Given the description of an element on the screen output the (x, y) to click on. 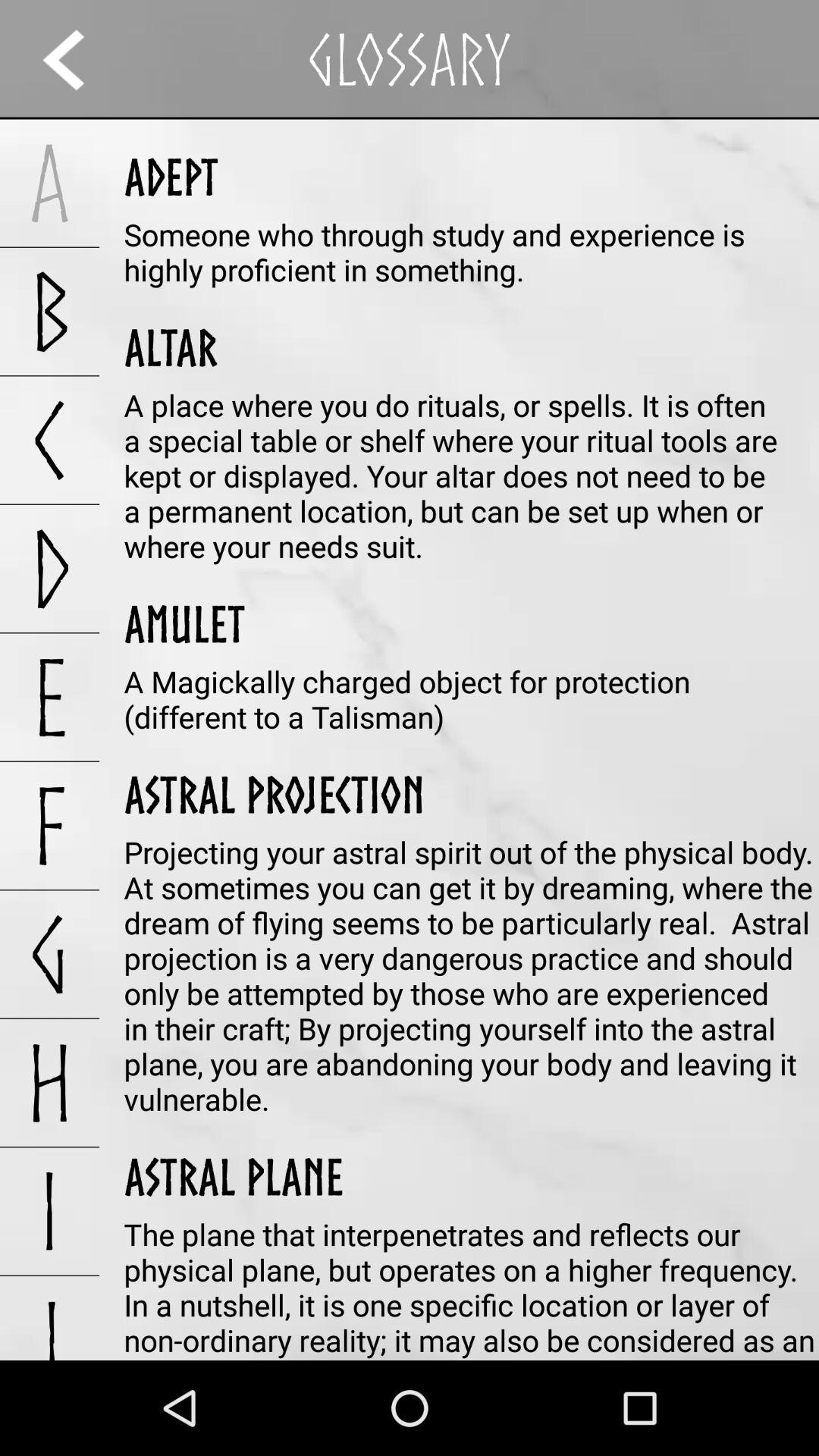
scroll until the f app (49, 825)
